Given the description of an element on the screen output the (x, y) to click on. 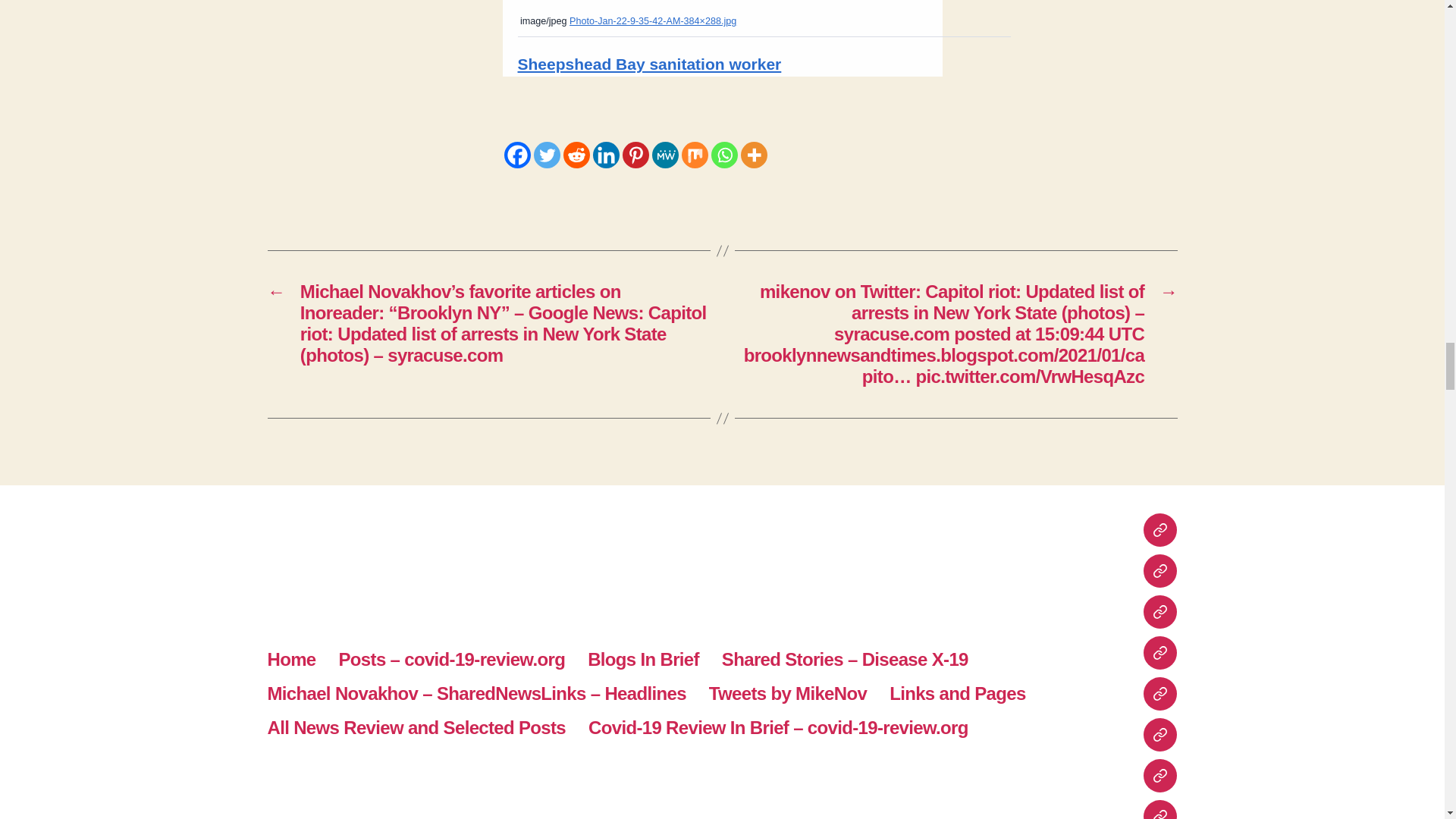
Facebook (516, 154)
Reddit (575, 154)
Linkedin (606, 154)
Twitter (547, 154)
